Given the description of an element on the screen output the (x, y) to click on. 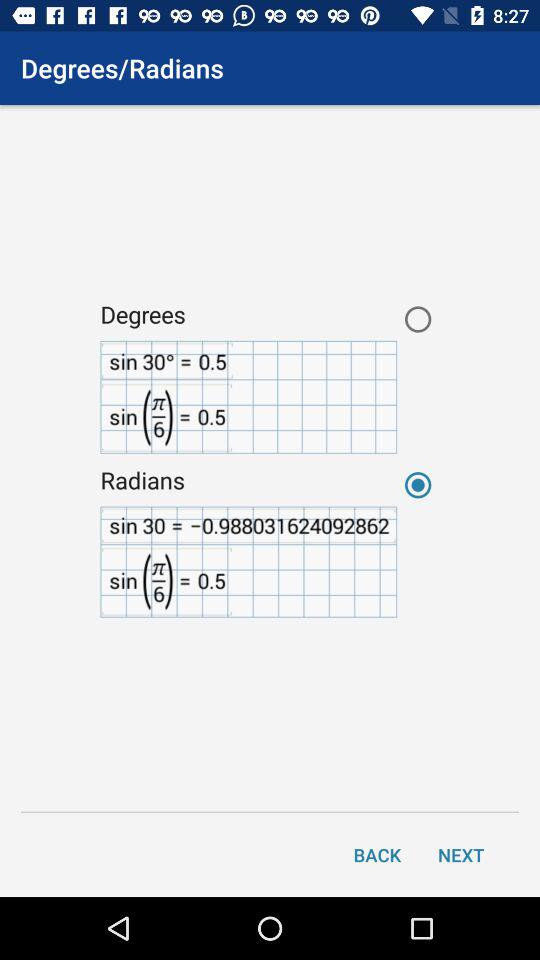
click the back icon (377, 854)
